Given the description of an element on the screen output the (x, y) to click on. 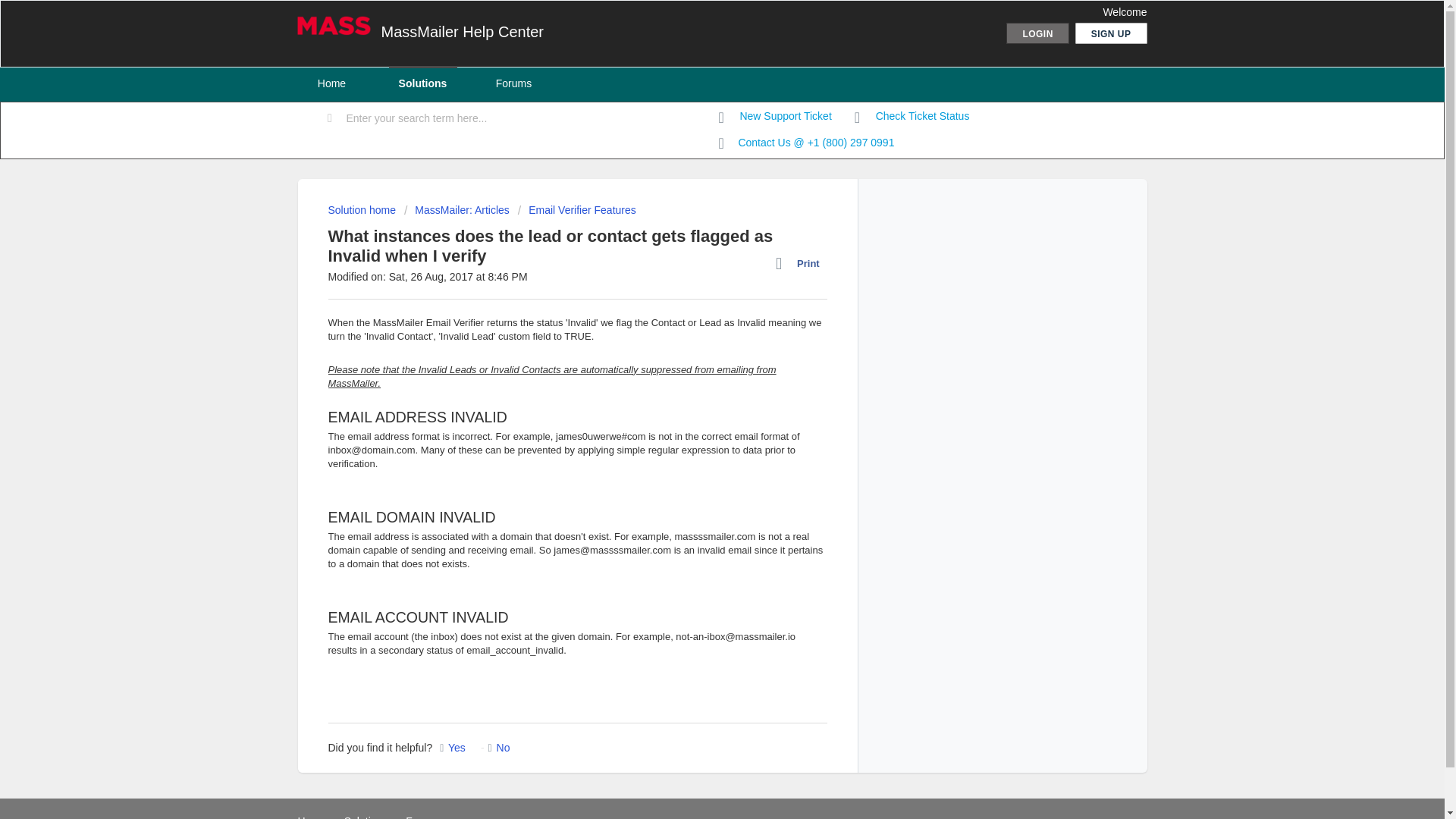
New support ticket (775, 116)
MassMailer: Articles (456, 209)
Home (331, 83)
Forums (513, 83)
Solutions (365, 816)
Solutions (422, 83)
Solution home (362, 209)
Home (310, 816)
Print this Article (801, 263)
Email Verifier Features (577, 209)
